Given the description of an element on the screen output the (x, y) to click on. 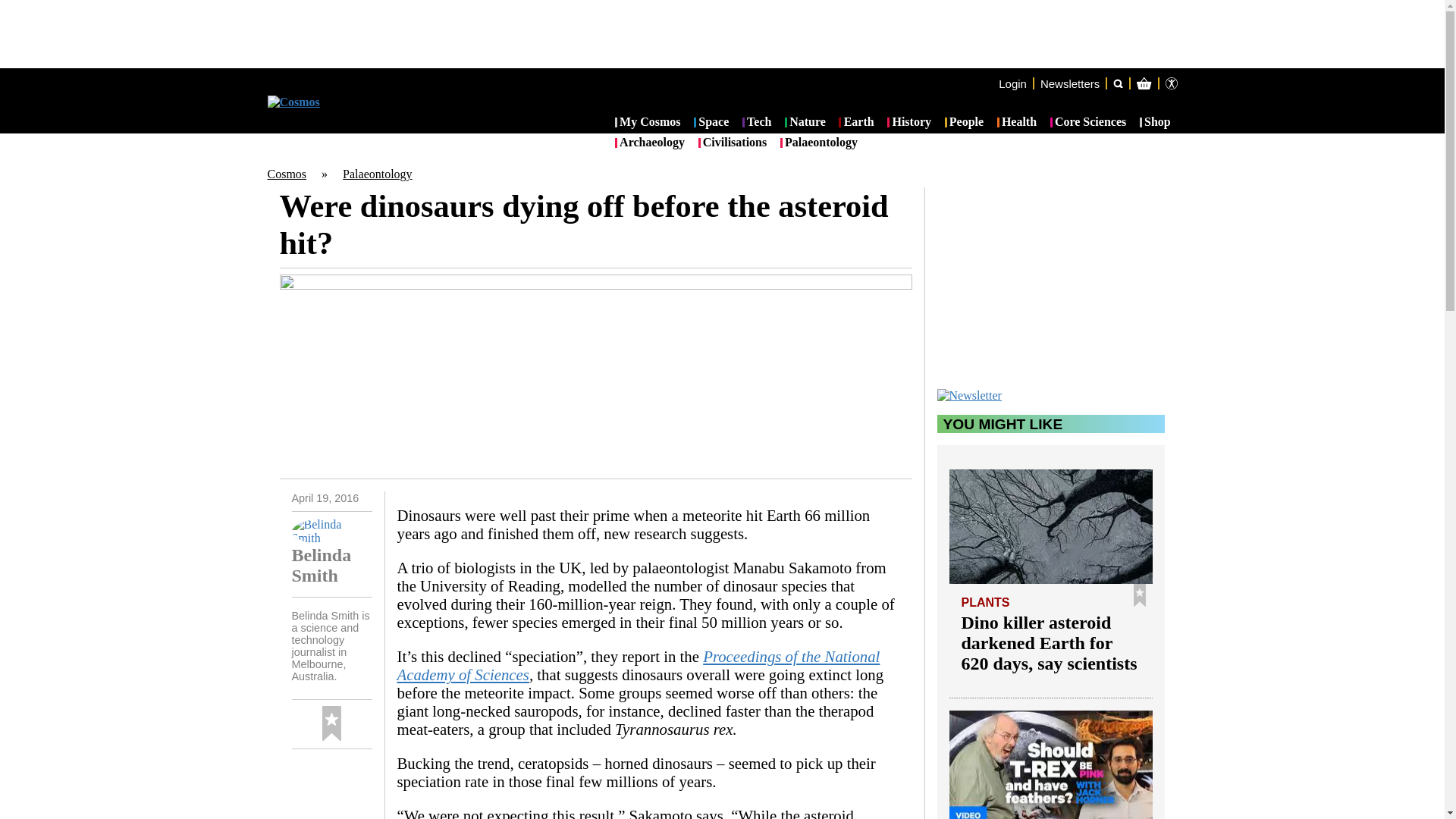
Proceedings of the National Academy of Sciences (638, 665)
History (908, 122)
Health (1016, 122)
Accessibility Tools (1170, 82)
Nature (804, 122)
Palaeontology (377, 173)
Shop (1155, 122)
People (964, 122)
Tech (756, 122)
Cosmos (285, 173)
